Given the description of an element on the screen output the (x, y) to click on. 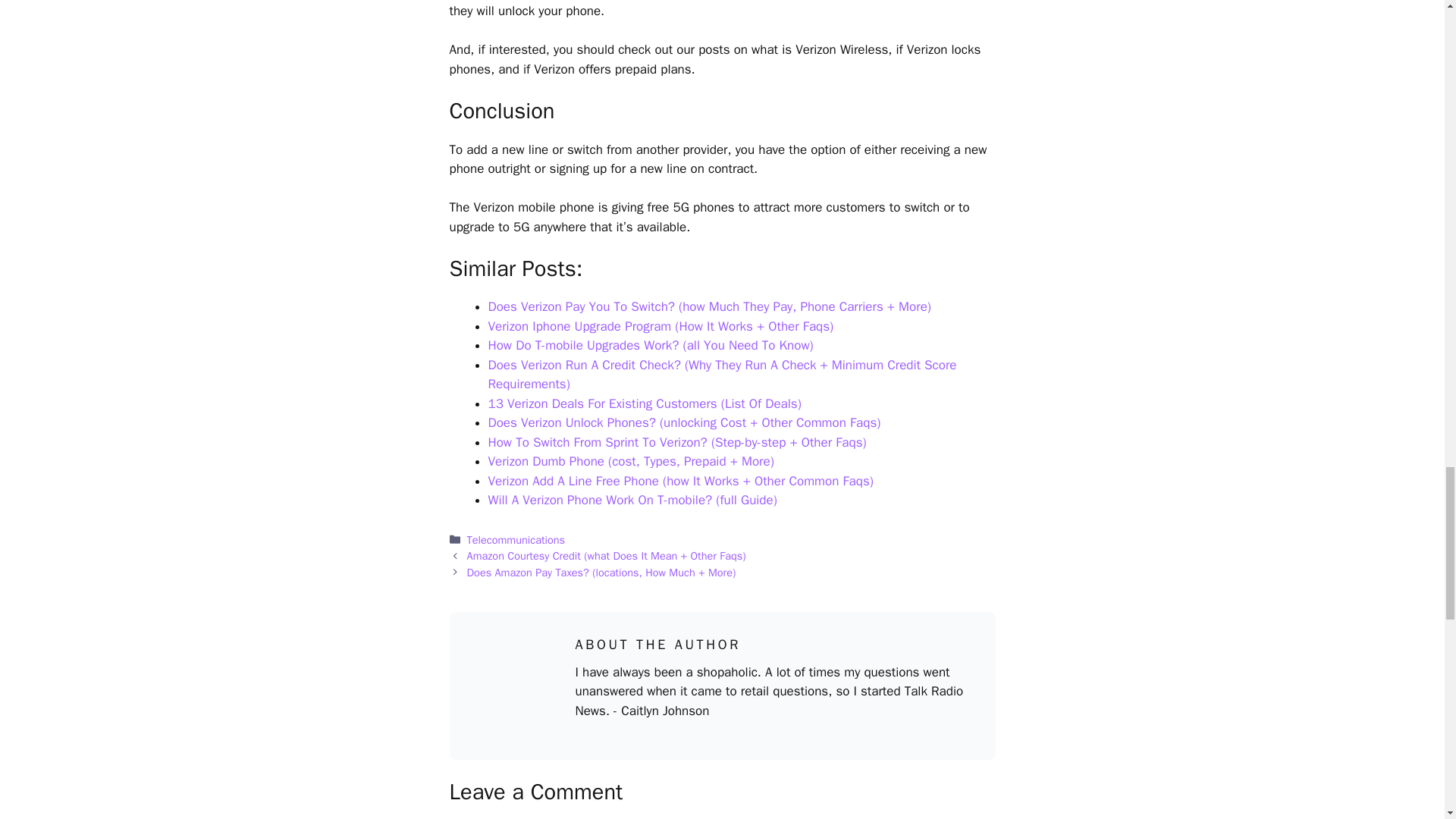
Previous (606, 555)
Next (601, 572)
Telecommunications (515, 540)
